Given the description of an element on the screen output the (x, y) to click on. 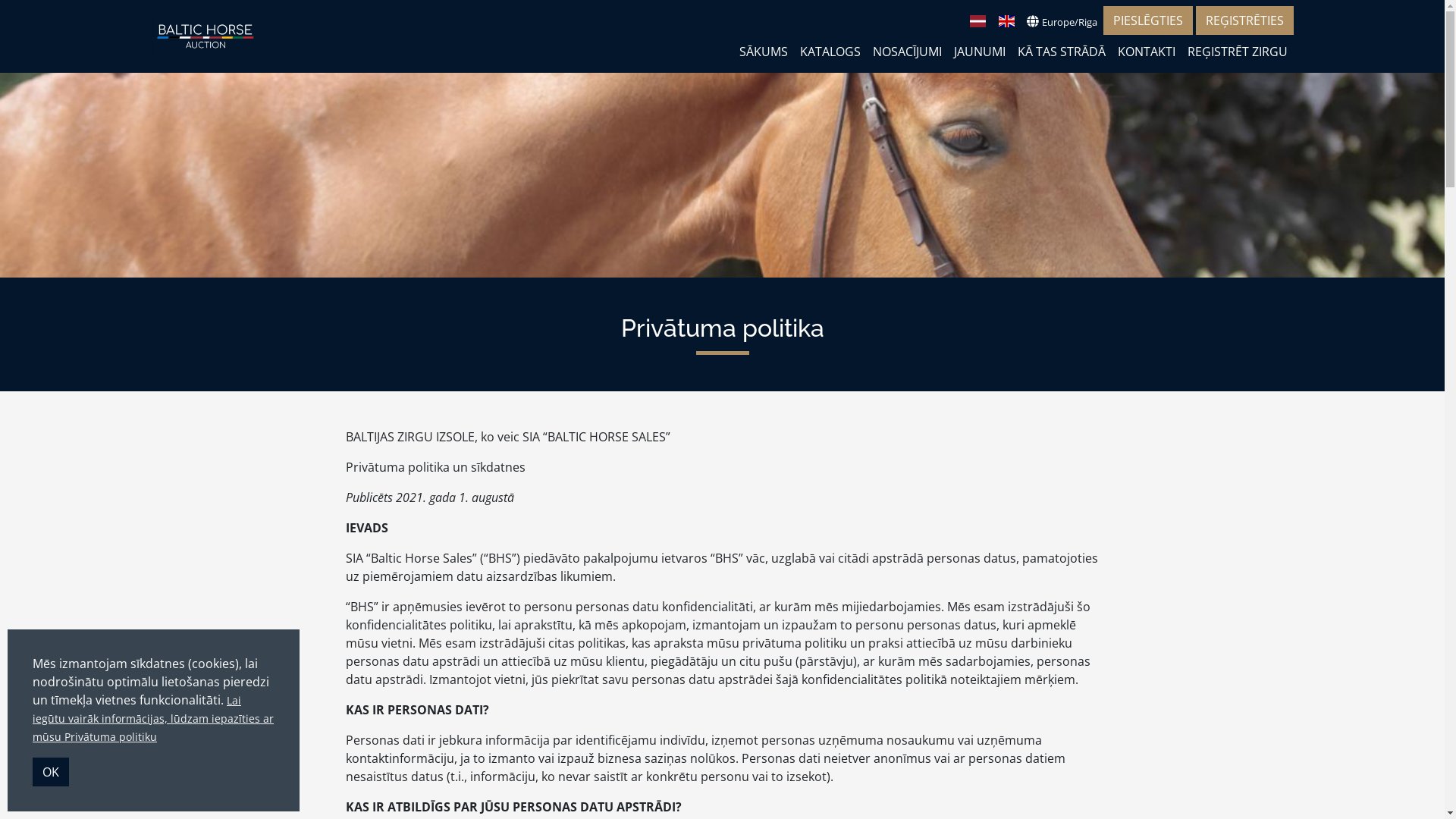
KONTAKTI Element type: text (1146, 51)
Europe/Riga Element type: text (1061, 21)
KATALOGS Element type: text (829, 51)
OK Element type: text (50, 771)
JAUNUMI Element type: text (979, 51)
